Given the description of an element on the screen output the (x, y) to click on. 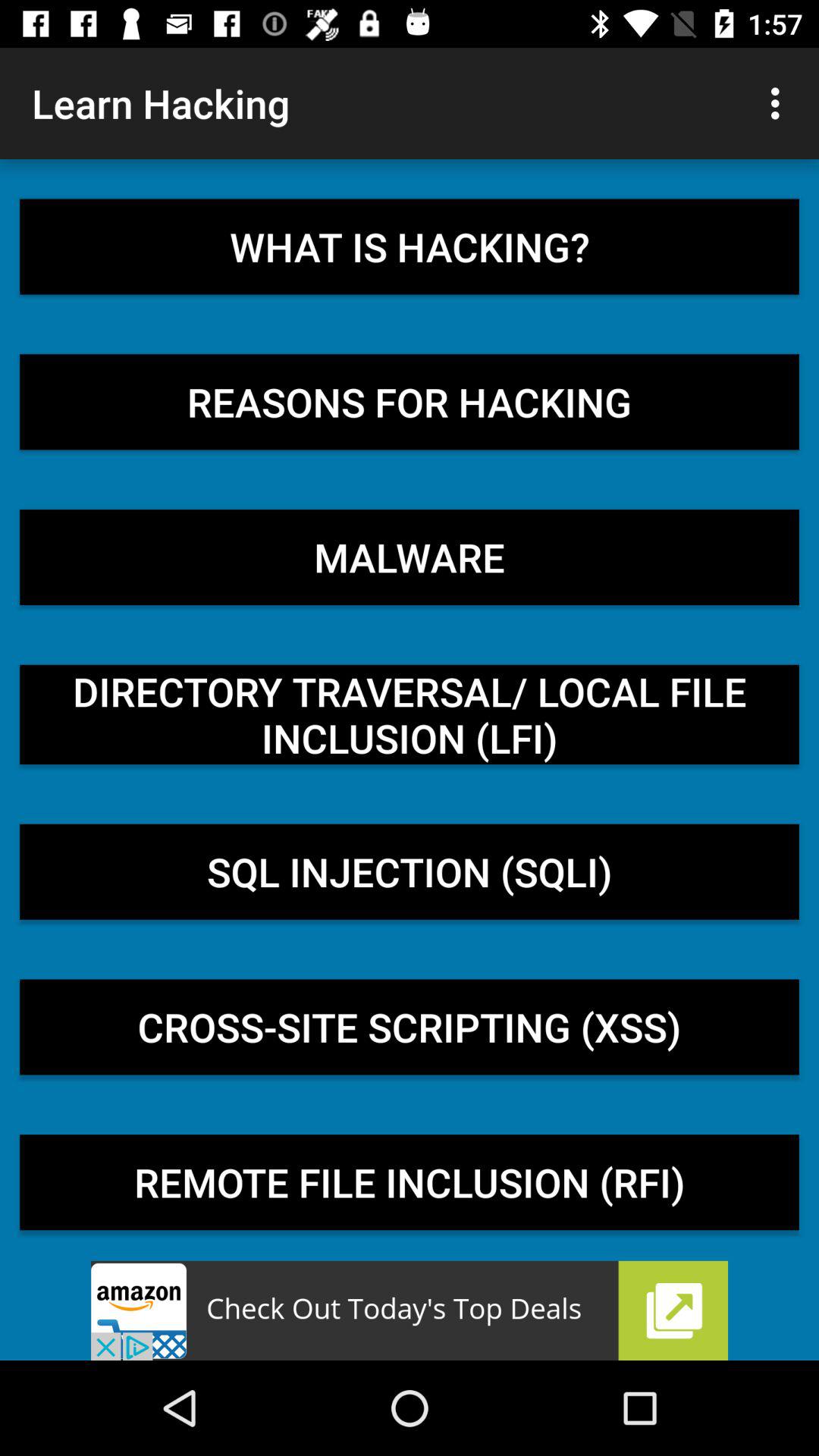
open amazon application (409, 1310)
